Given the description of an element on the screen output the (x, y) to click on. 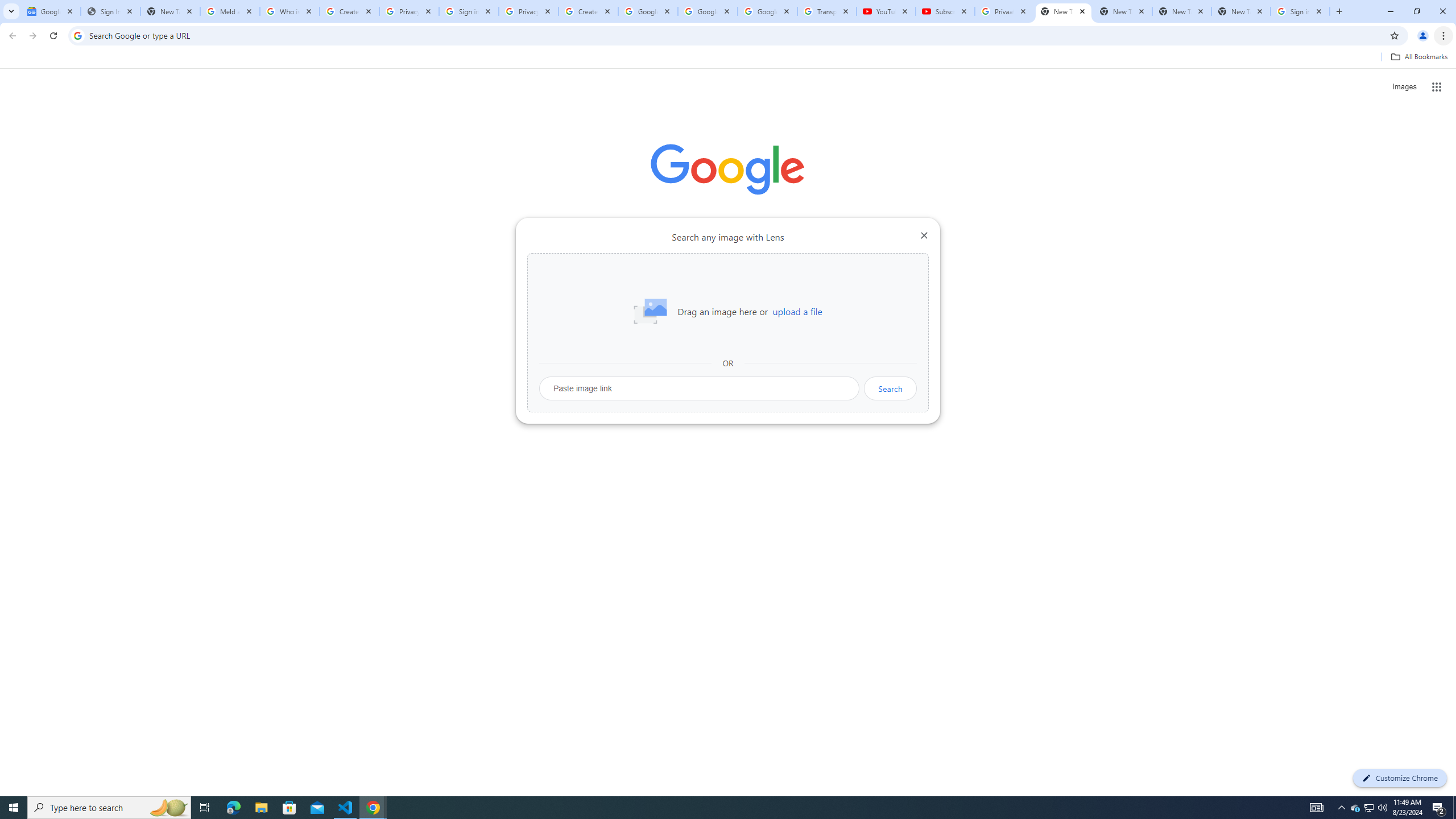
Paste image link (699, 388)
Sign In - USA TODAY (110, 11)
More actions for Chrome Web Store shortcut (686, 265)
Bookmarks (728, 58)
Google Account (767, 11)
Add shortcut (855, 287)
